Given the description of an element on the screen output the (x, y) to click on. 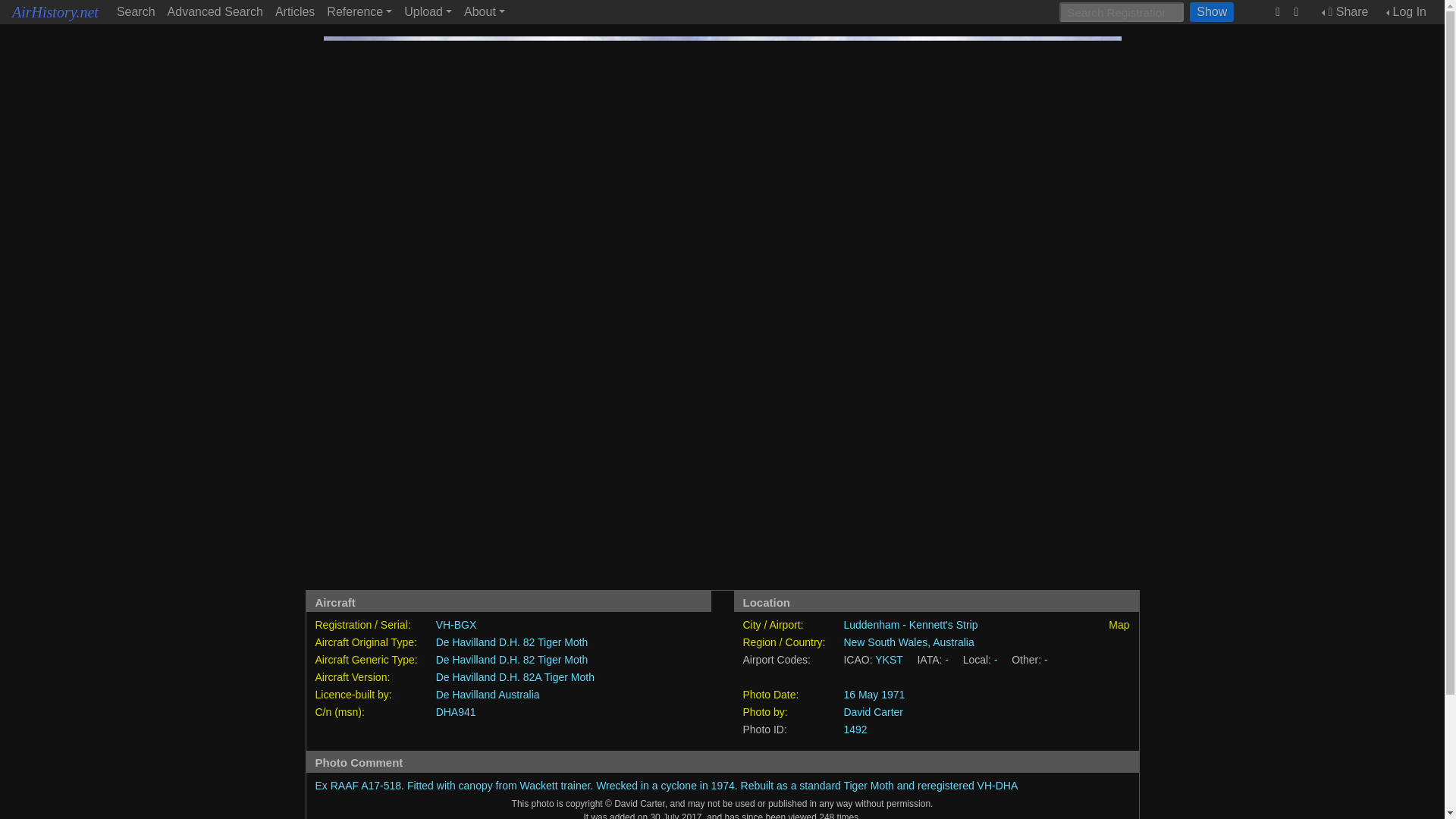
Share (1345, 12)
AirHistory.net (55, 12)
Upload (427, 12)
About (484, 12)
Advanced Search (215, 12)
Articles (294, 12)
Reference (358, 12)
Search (135, 12)
Show (1211, 12)
